Given the description of an element on the screen output the (x, y) to click on. 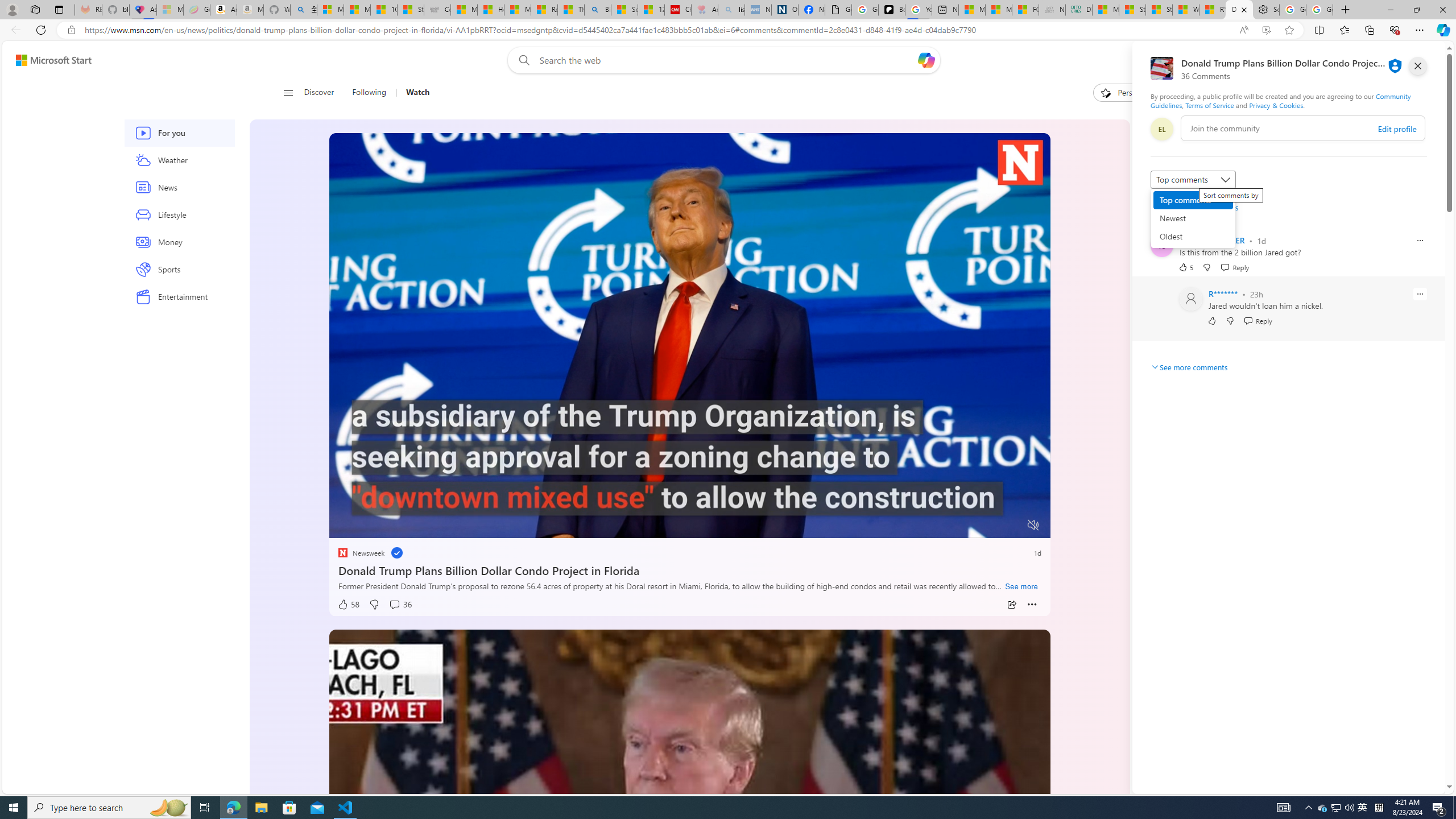
Asthma Inhalers: Names and Types (143, 9)
Newest (1193, 218)
R******* | Trusted Community Engagement and Contributions (1211, 9)
DITOGAMES AG Imprint (1079, 9)
Community Guidelines (1280, 100)
CNN (1165, 415)
Be Smart | creating Science videos | Patreon (891, 9)
Captions (988, 525)
Donald Trump Plans Billion Dollar Condo Project in Florida (689, 568)
Skip to content (49, 59)
